Given the description of an element on the screen output the (x, y) to click on. 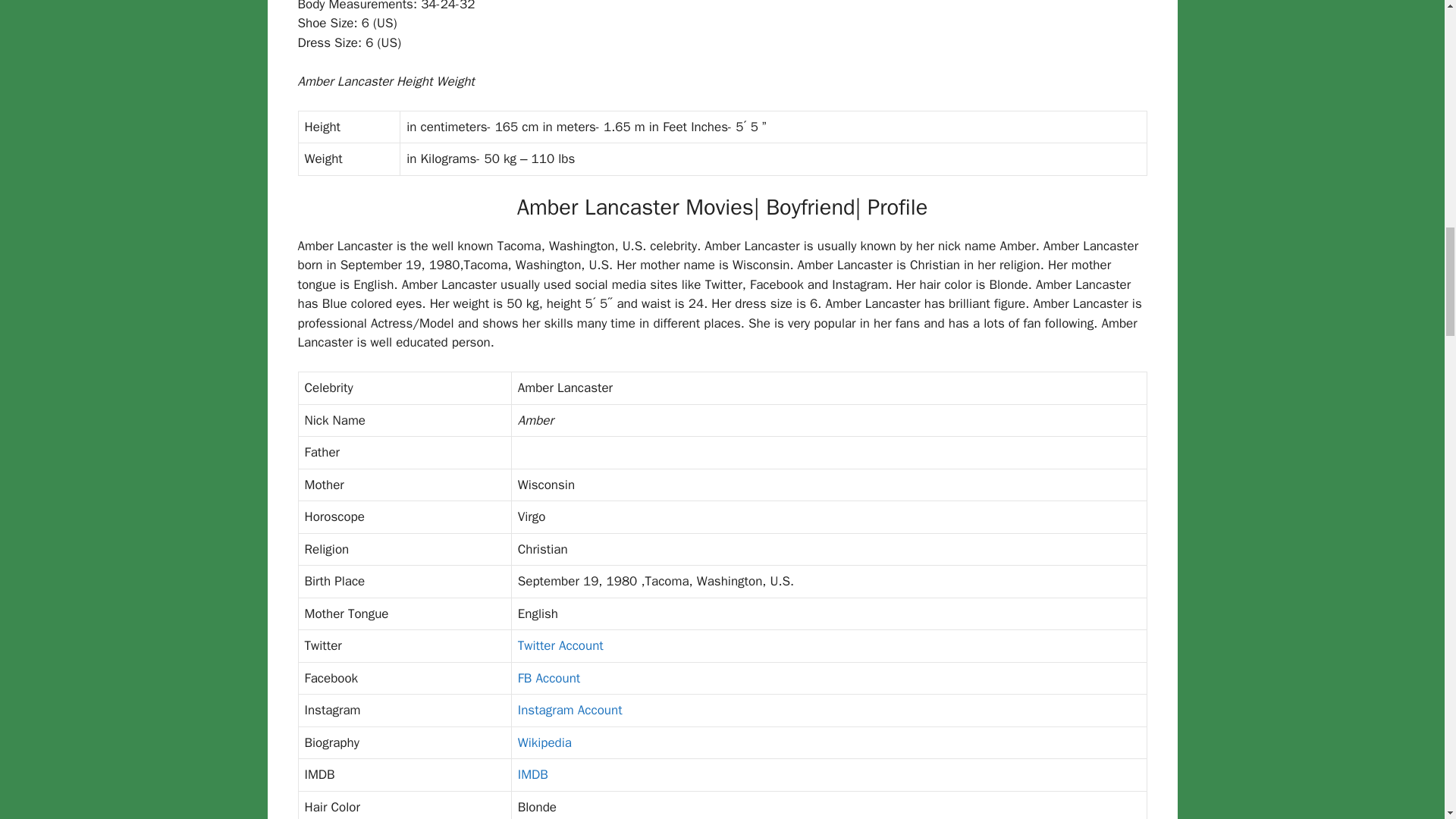
Instagram Account (570, 709)
Twitter Account (561, 645)
FB Account (549, 678)
IMDB (533, 774)
Wikipedia (545, 742)
